Given the description of an element on the screen output the (x, y) to click on. 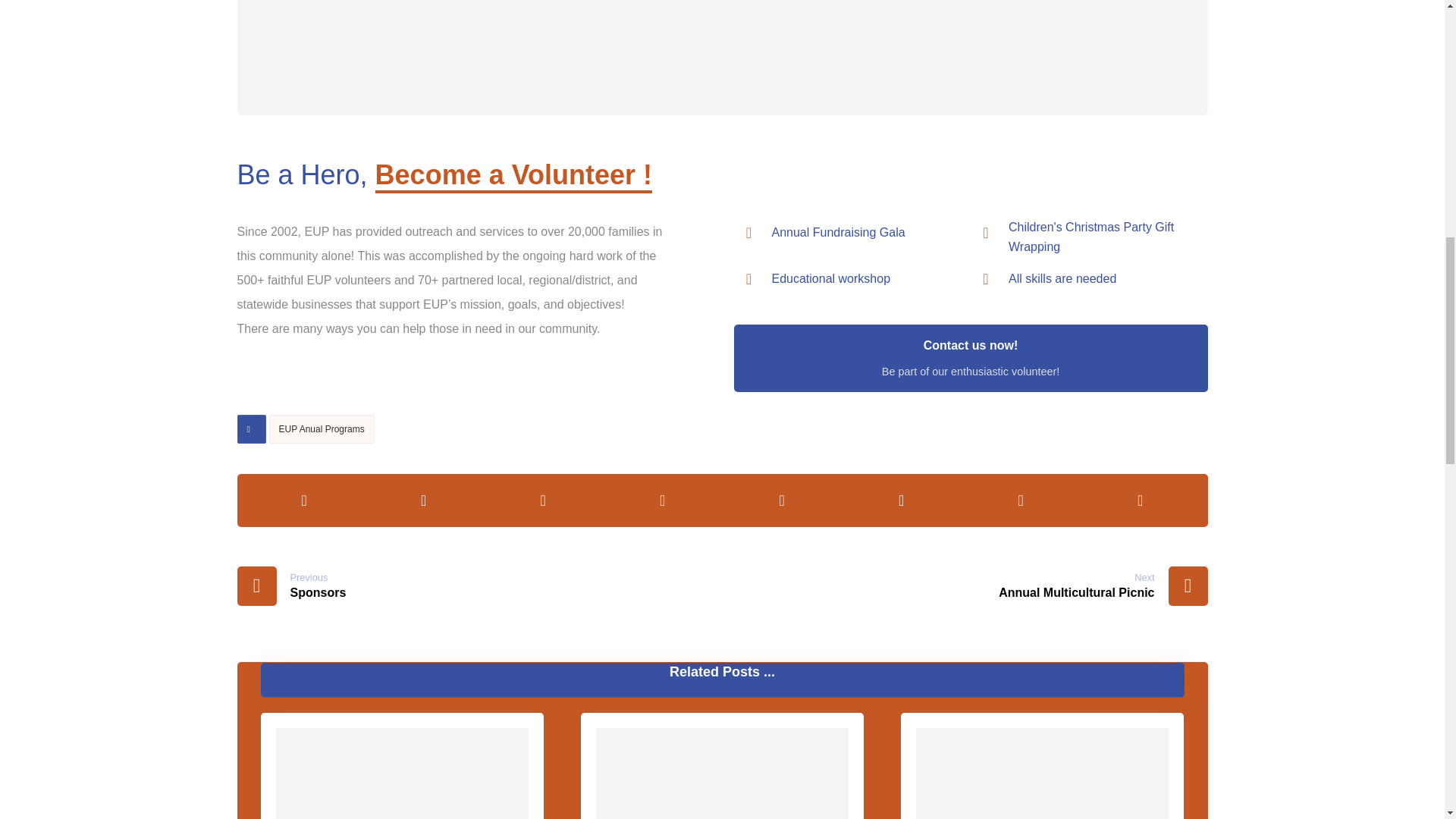
Contact Us (970, 358)
Portada 2 (721, 57)
